Given the description of an element on the screen output the (x, y) to click on. 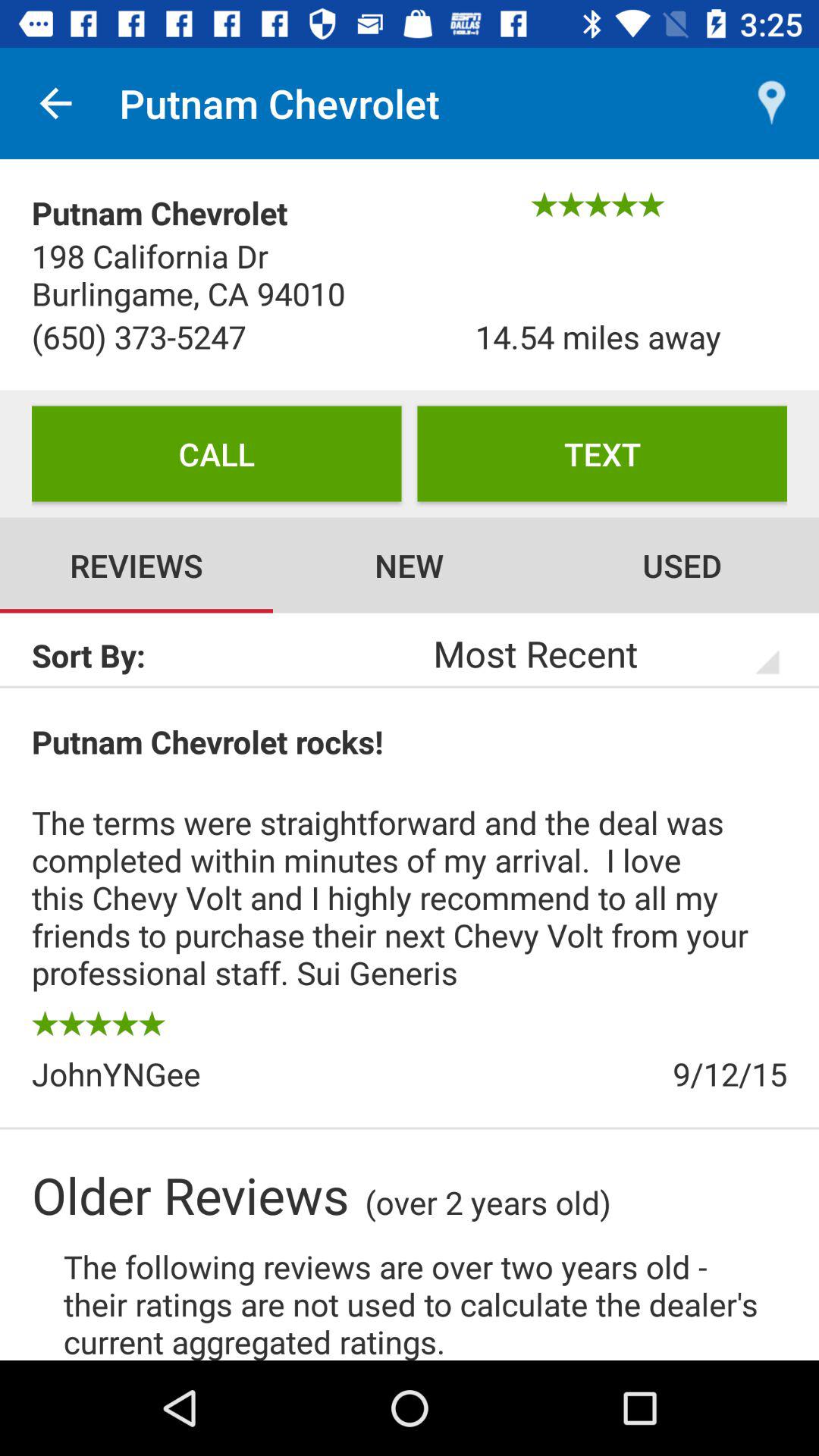
launch the item to the left of 9/12/15 icon (220, 1073)
